Given the description of an element on the screen output the (x, y) to click on. 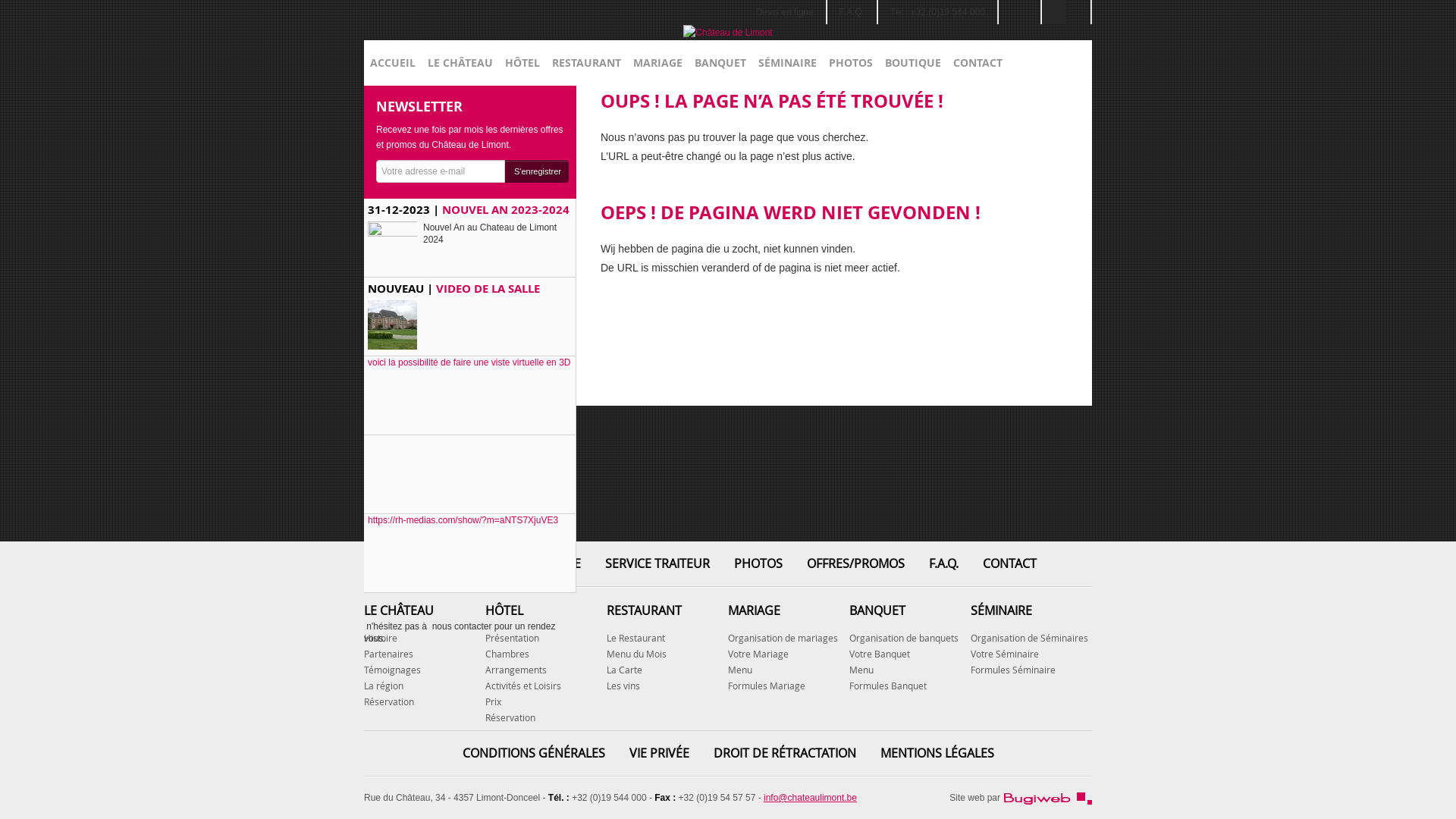
ACCUEIL Element type: text (392, 62)
La Carte Element type: text (624, 669)
Organisation de banquets Element type: text (903, 637)
RESTAURANT Element type: text (586, 62)
S'enregistrer Element type: text (536, 171)
Arrangements Element type: text (515, 669)
https://rh-medias.com/show/?m=aNTS7XjuVE3 Element type: text (470, 553)
BOUTIQUE Element type: text (912, 62)
Histoire Element type: text (380, 637)
CONTACT Element type: text (977, 62)
Devis en ligne Element type: text (784, 12)
Les vins Element type: text (623, 685)
Menu du Mois Element type: text (636, 653)
Organisation de mariages Element type: text (782, 637)
SERVICE TRAITEUR Element type: text (657, 563)
Mon panier (0) Element type: text (1062, 107)
Menu Element type: text (740, 669)
Formules Mariage Element type: text (766, 685)
info@chateaulimont.be Element type: text (809, 797)
F.A.Q. Element type: text (943, 563)
DEVIS EN LIGNE Element type: text (536, 563)
Votre Mariage Element type: text (758, 653)
ACCUEIL Element type: text (443, 563)
CONTACT Element type: text (1009, 563)
Formules Banquet Element type: text (887, 685)
F.A.Q. Element type: text (851, 12)
MARIAGE Element type: text (657, 62)
BANQUET Element type: text (720, 62)
NOUVEAU | VIDEO DE LA SALLE Element type: text (470, 316)
Nouvelle salle Element type: hover (405, 327)
PHOTOS Element type: text (850, 62)
Nederlands Element type: text (1078, 12)
PHOTOS Element type: text (757, 563)
Partenaires Element type: text (388, 653)
Votre Banquet Element type: text (879, 653)
OFFRES/PROMOS Element type: text (855, 563)
Chambres Element type: text (507, 653)
Prix Element type: text (493, 701)
Facebook Element type: text (1019, 12)
Menu Element type: text (861, 669)
Le Restaurant Element type: text (635, 637)
